Given the description of an element on the screen output the (x, y) to click on. 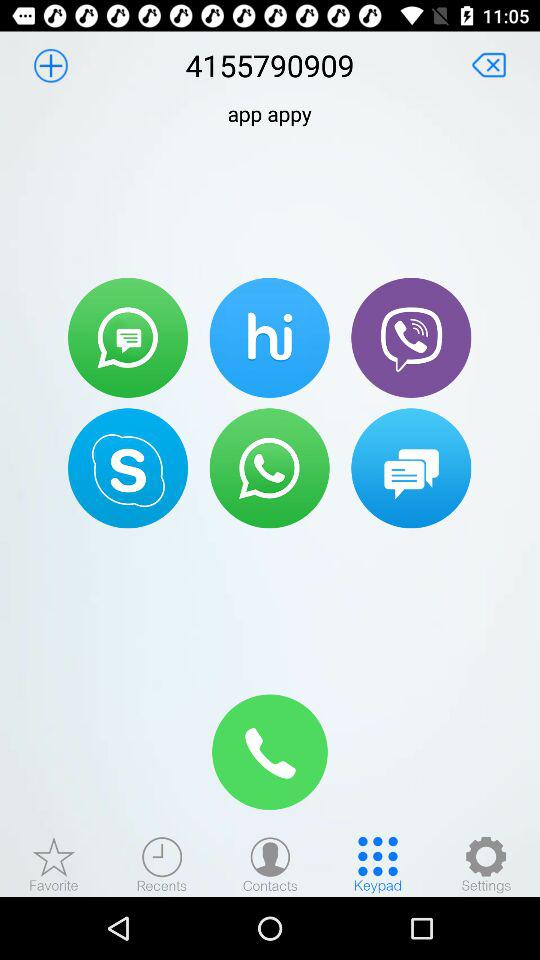
plus button (50, 65)
